Given the description of an element on the screen output the (x, y) to click on. 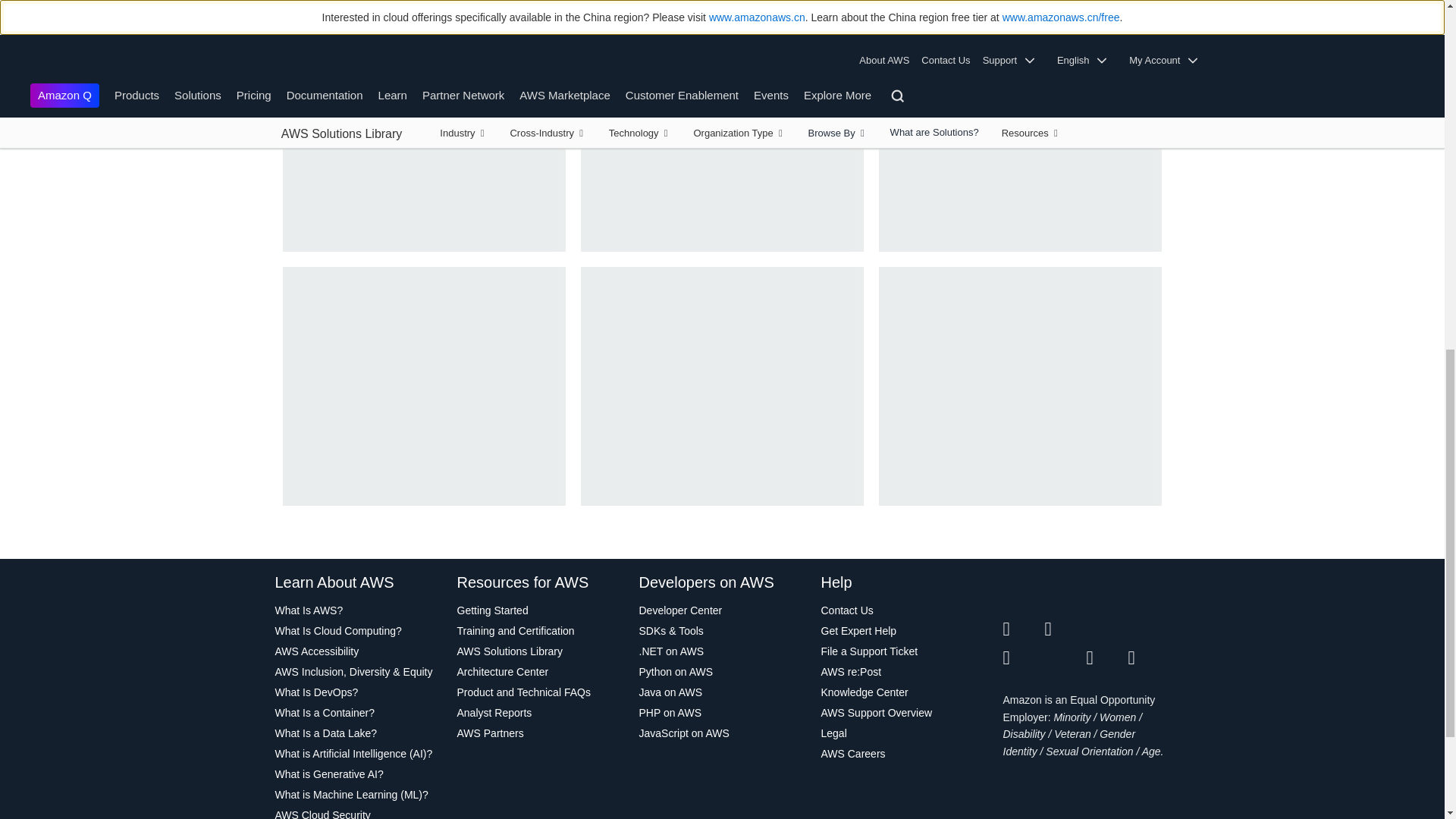
Twitter (1023, 629)
YouTube (1065, 658)
Facebook (1065, 629)
Twitch (1023, 658)
Instagram (1149, 629)
Linkedin (1106, 629)
